Given the description of an element on the screen output the (x, y) to click on. 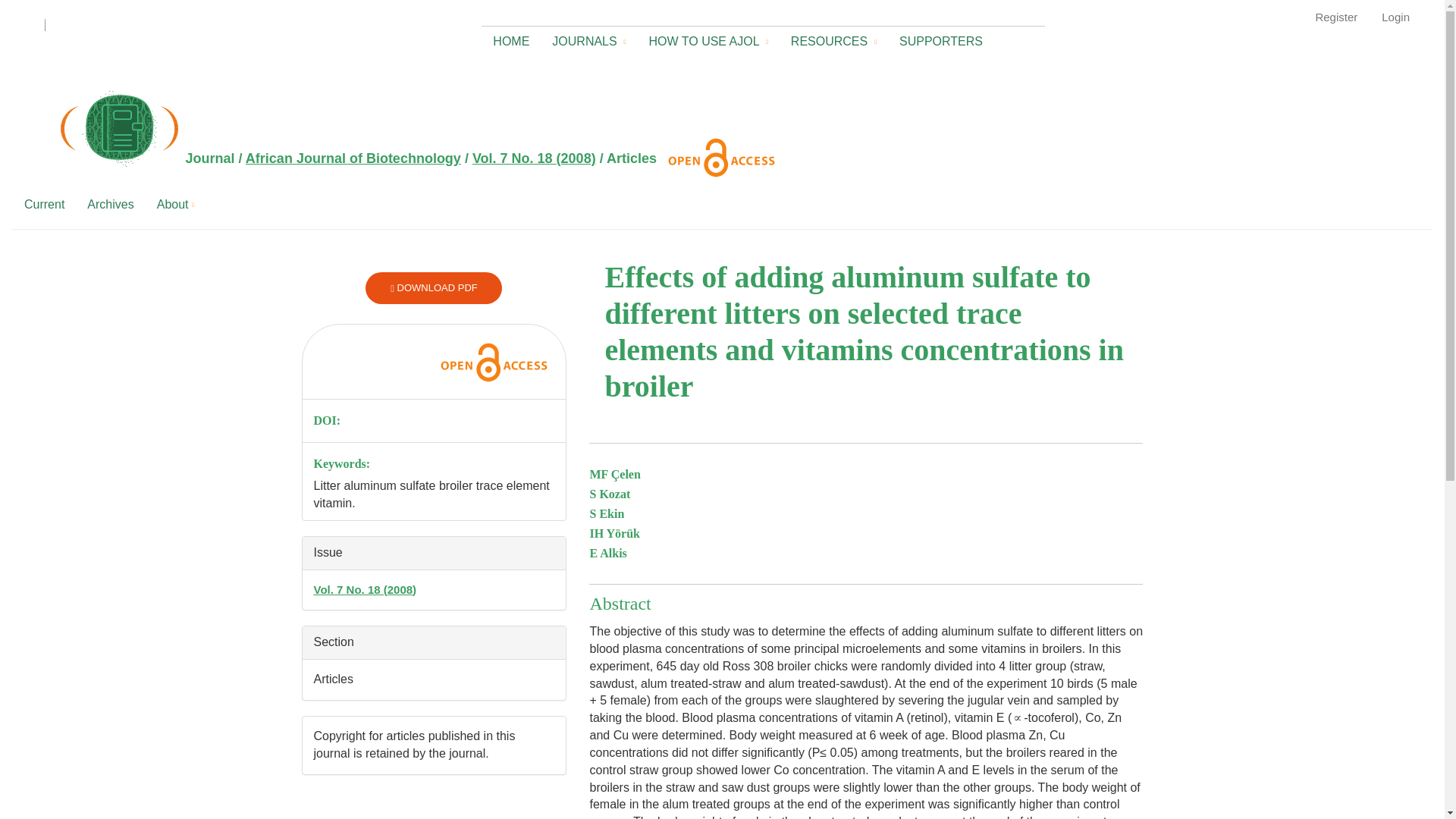
RESOURCES   (833, 37)
About (175, 200)
DOWNLOAD PDF (433, 287)
HOW TO USE AJOL   (707, 37)
Login (1395, 16)
SUPPORTERS   (944, 37)
JOURNALS   (588, 37)
Current (44, 200)
Open Access (493, 361)
HOME (510, 37)
